Given the description of an element on the screen output the (x, y) to click on. 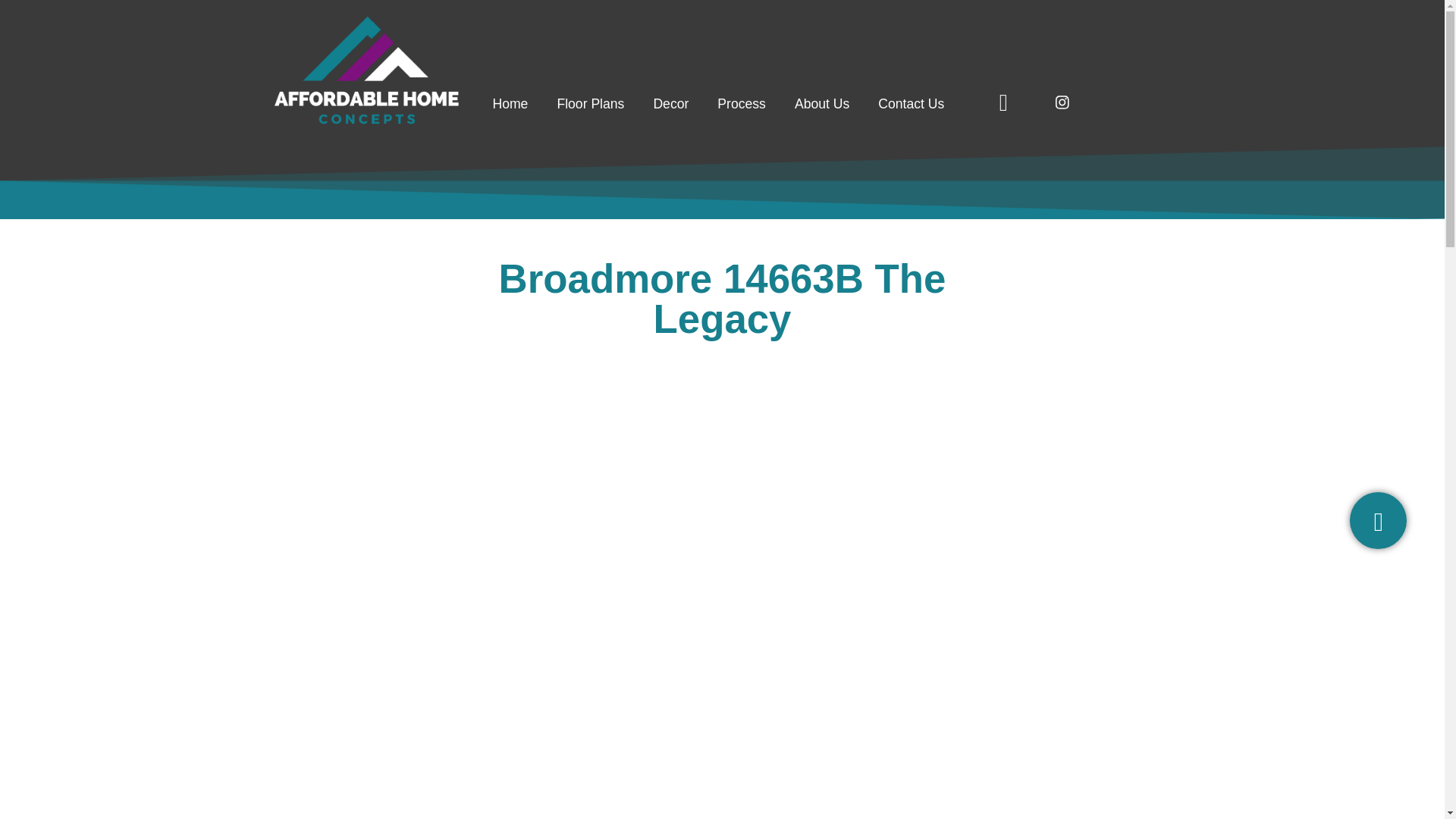
Floor Plans (590, 103)
